Given the description of an element on the screen output the (x, y) to click on. 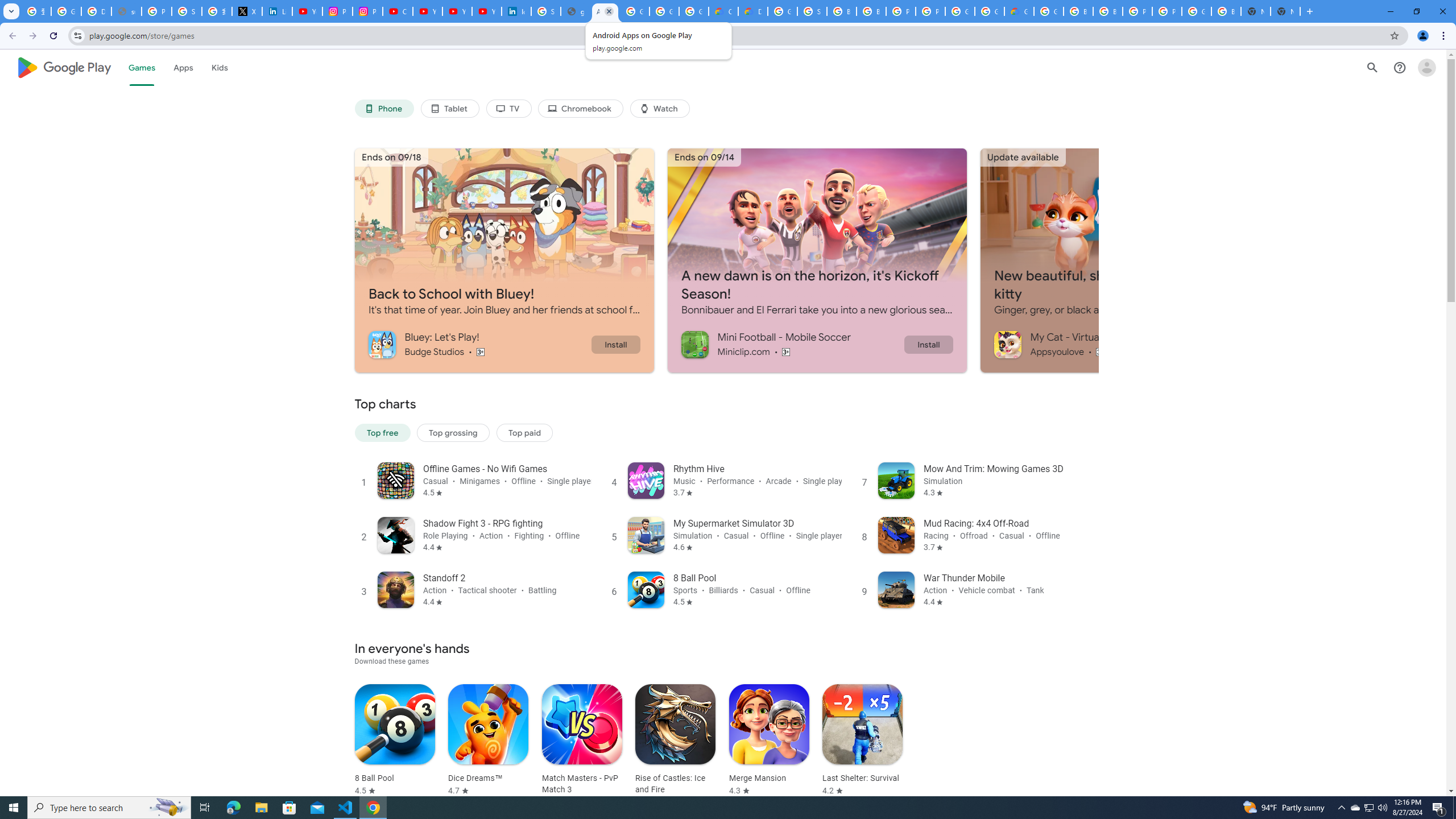
Sign in - Google Accounts (185, 11)
Kids (219, 67)
Games (141, 67)
Sign in - Google Accounts (545, 11)
Top paid (524, 432)
Last Shelter: Survival Rated 4.2 stars out of five stars (862, 739)
Privacy Help Center - Policies Help (156, 11)
